Given the description of an element on the screen output the (x, y) to click on. 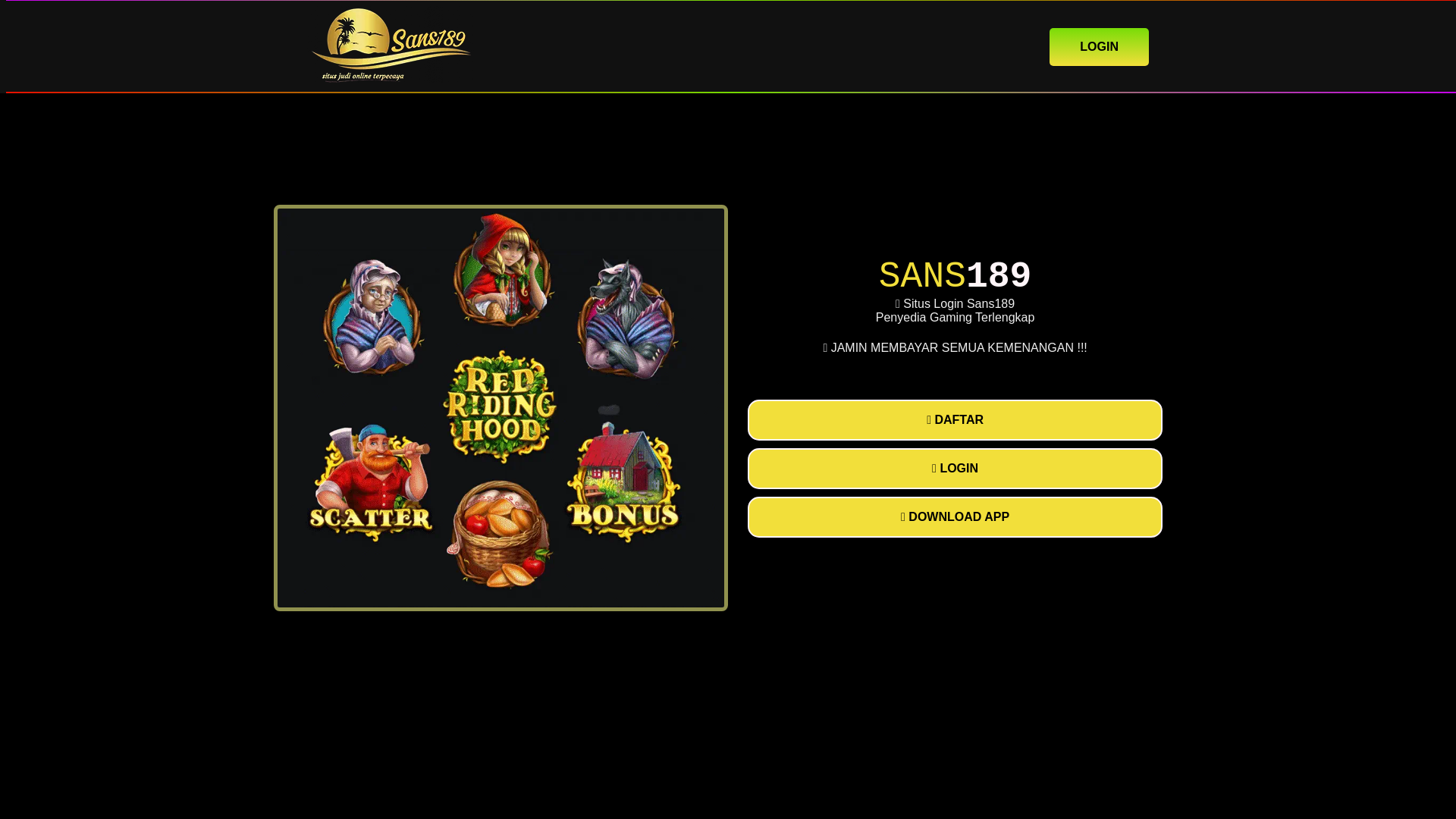
DAFTAR (954, 419)
DOWNLOAD APP (954, 516)
LOGIN (954, 467)
LOGIN (1098, 46)
